Given the description of an element on the screen output the (x, y) to click on. 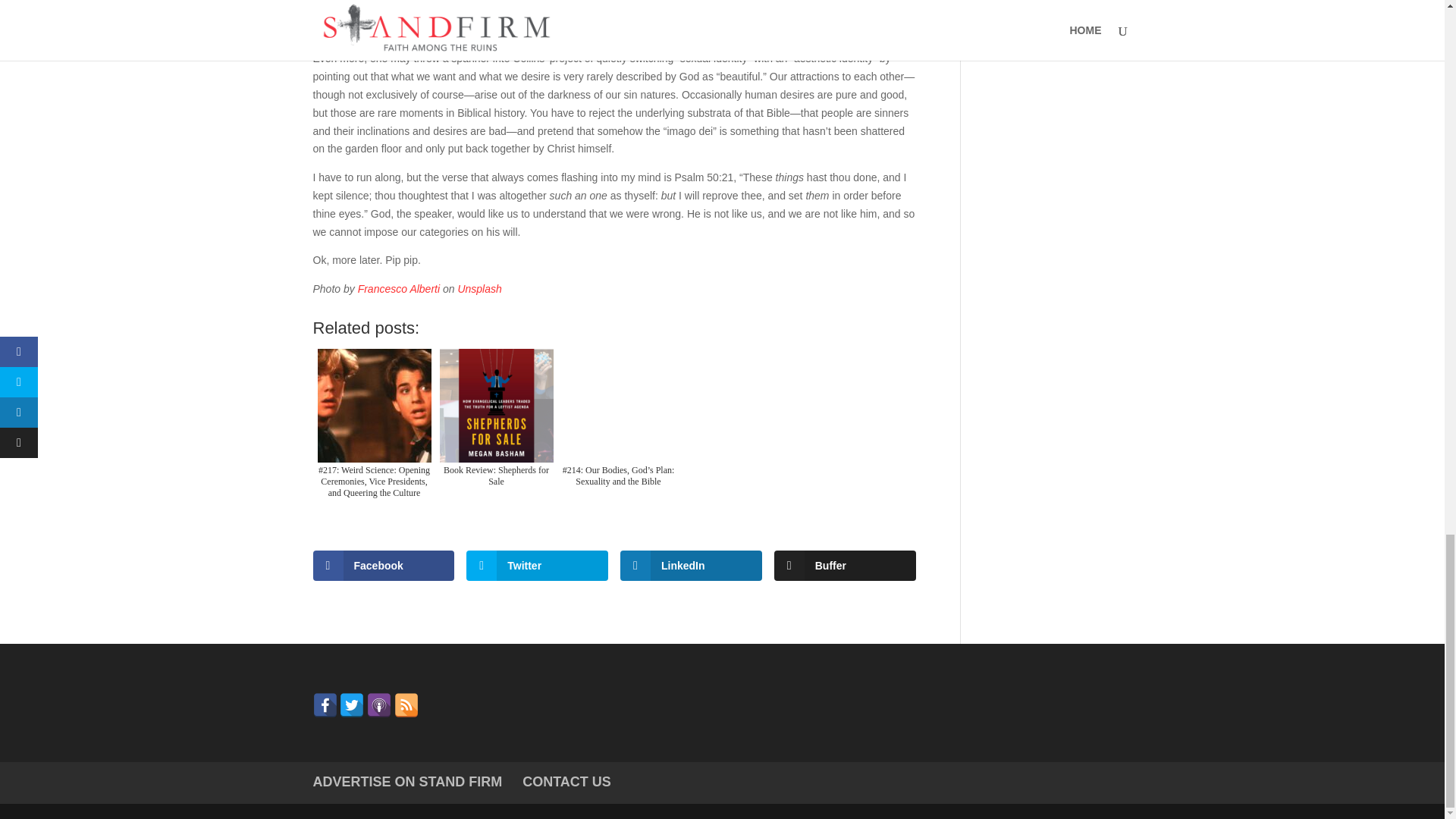
Twitter (536, 565)
Francesco Alberti (398, 288)
Facebook (383, 565)
Unsplash (478, 288)
ADVERTISE ON STAND FIRM (407, 781)
LinkedIn (690, 565)
Buffer (844, 565)
CONTACT US (566, 781)
